Given the description of an element on the screen output the (x, y) to click on. 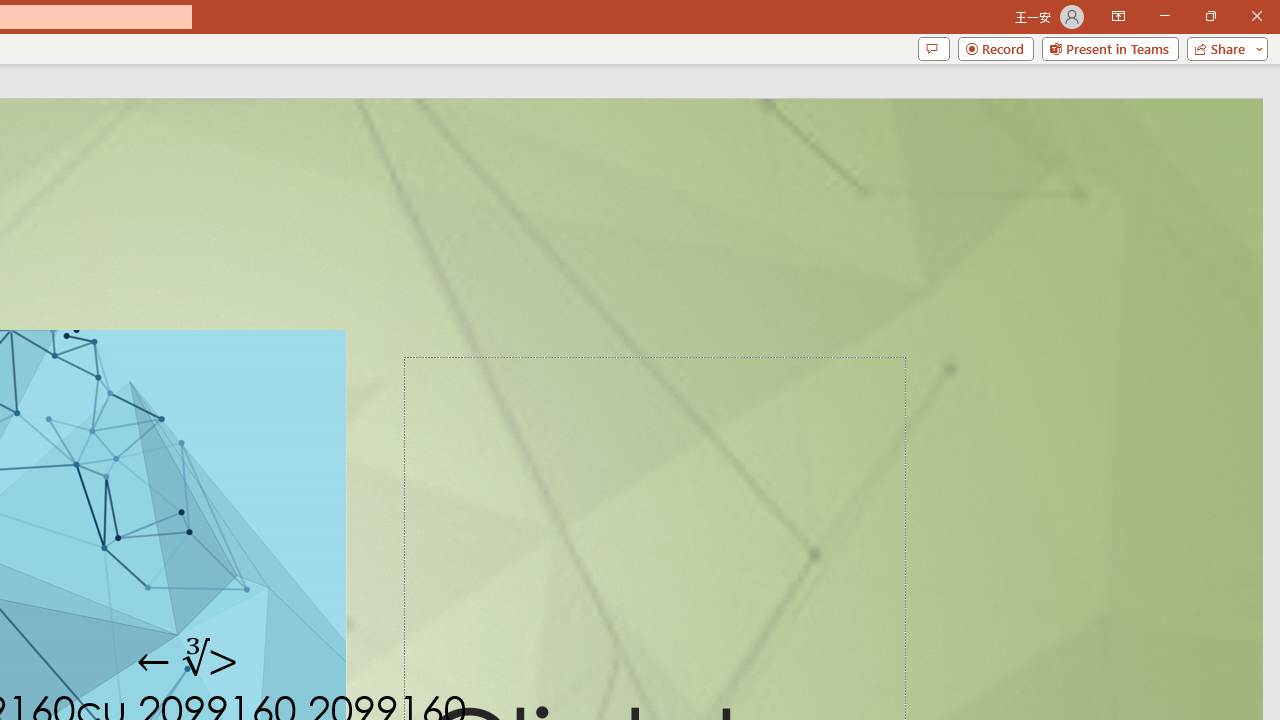
Restore Down (1210, 16)
Comments (933, 48)
Share (1223, 48)
Ribbon Display Options (1118, 16)
Close (1256, 16)
Record (995, 48)
Minimize (1164, 16)
Present in Teams (1109, 48)
